Given the description of an element on the screen output the (x, y) to click on. 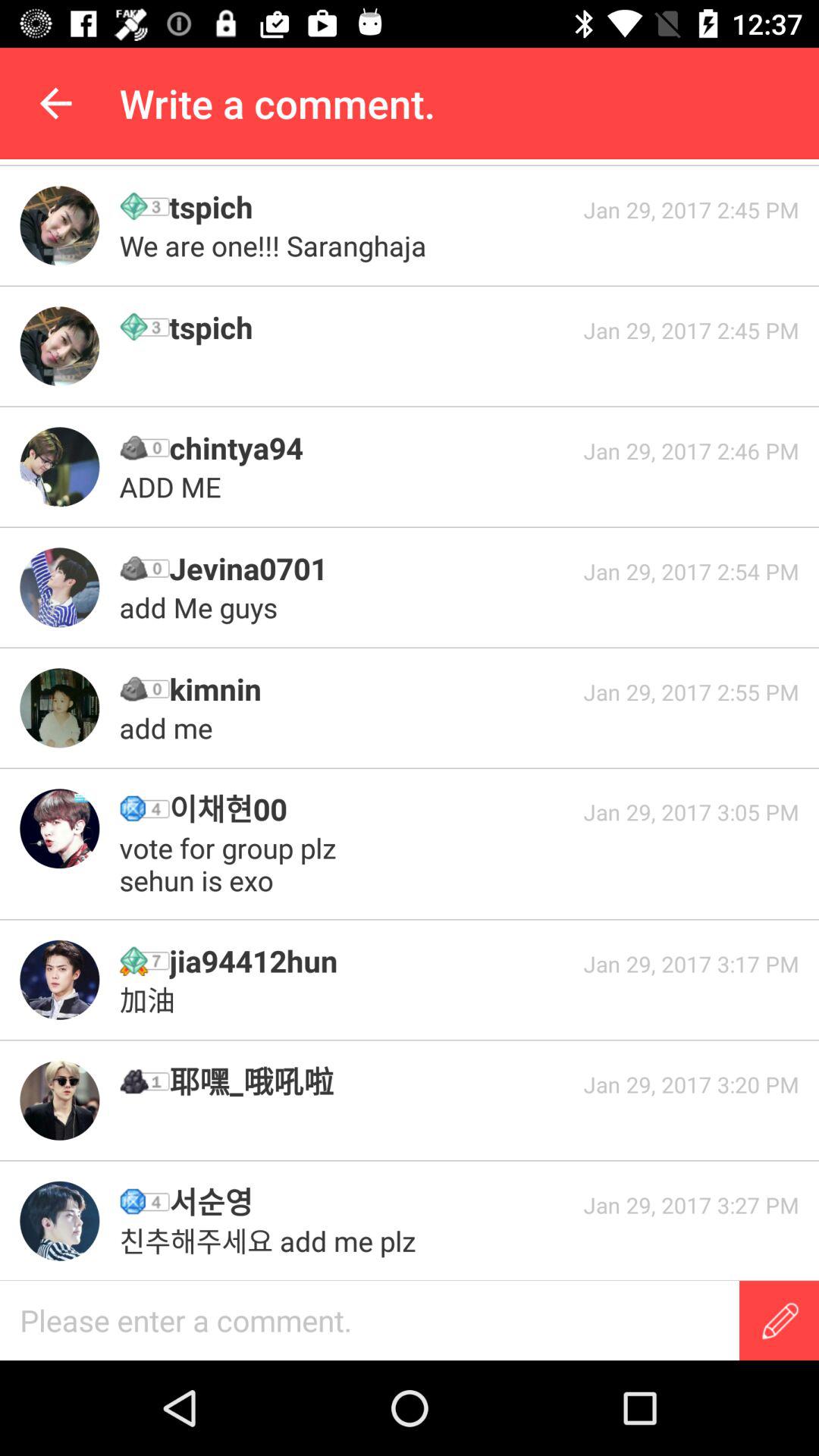
go to profile (59, 587)
